Given the description of an element on the screen output the (x, y) to click on. 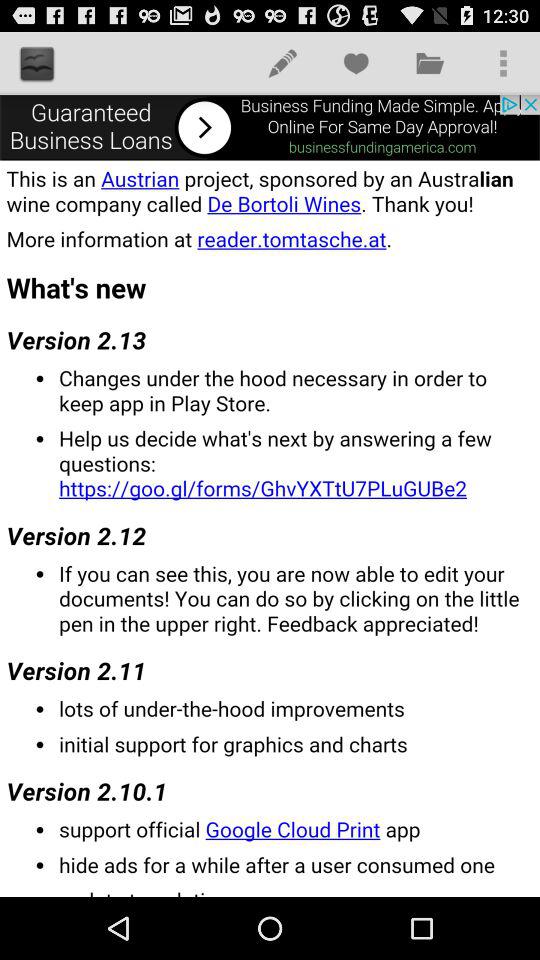
open an advertisement (270, 127)
